Given the description of an element on the screen output the (x, y) to click on. 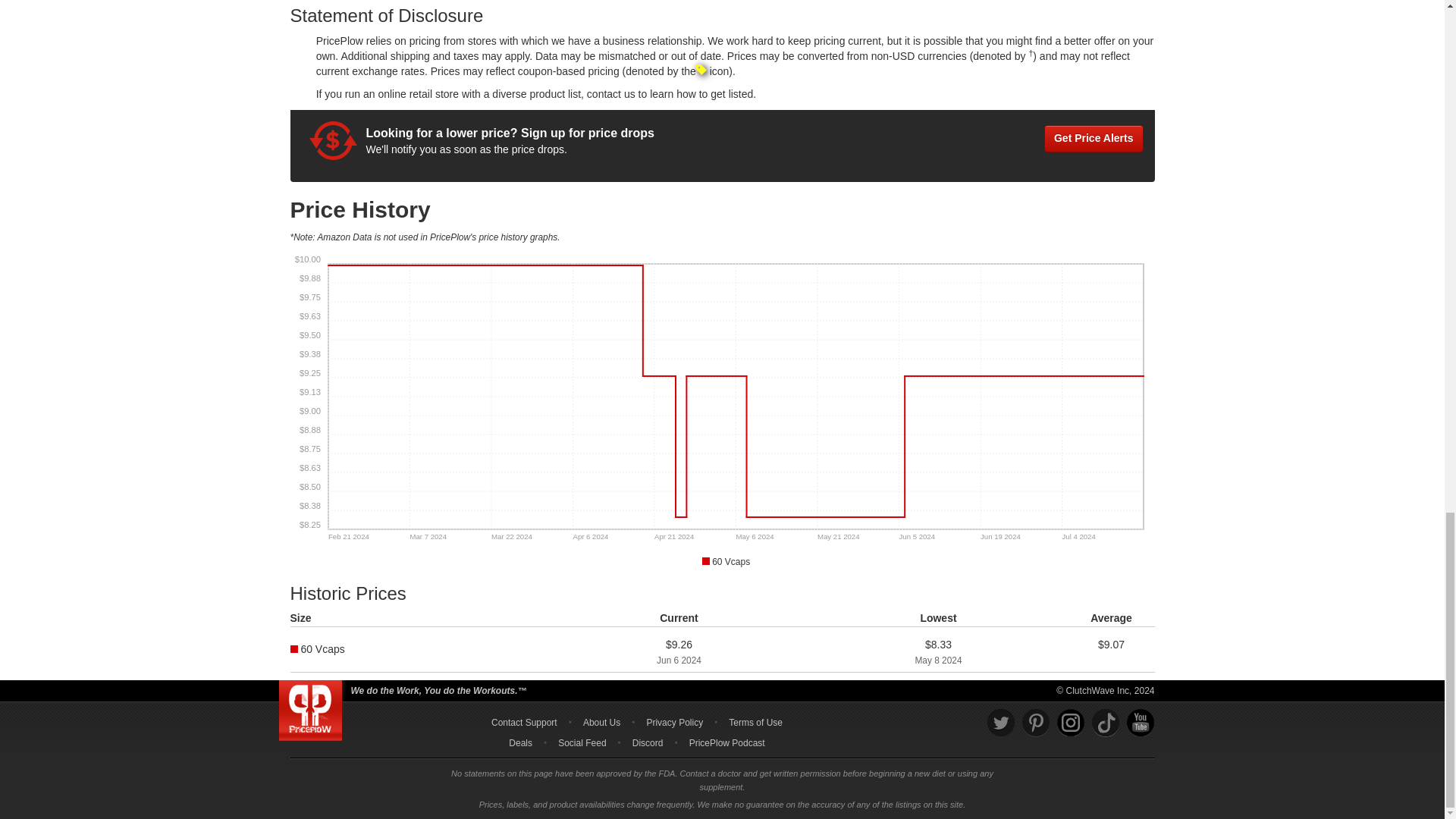
Example coupon icon (700, 69)
